Given the description of an element on the screen output the (x, y) to click on. 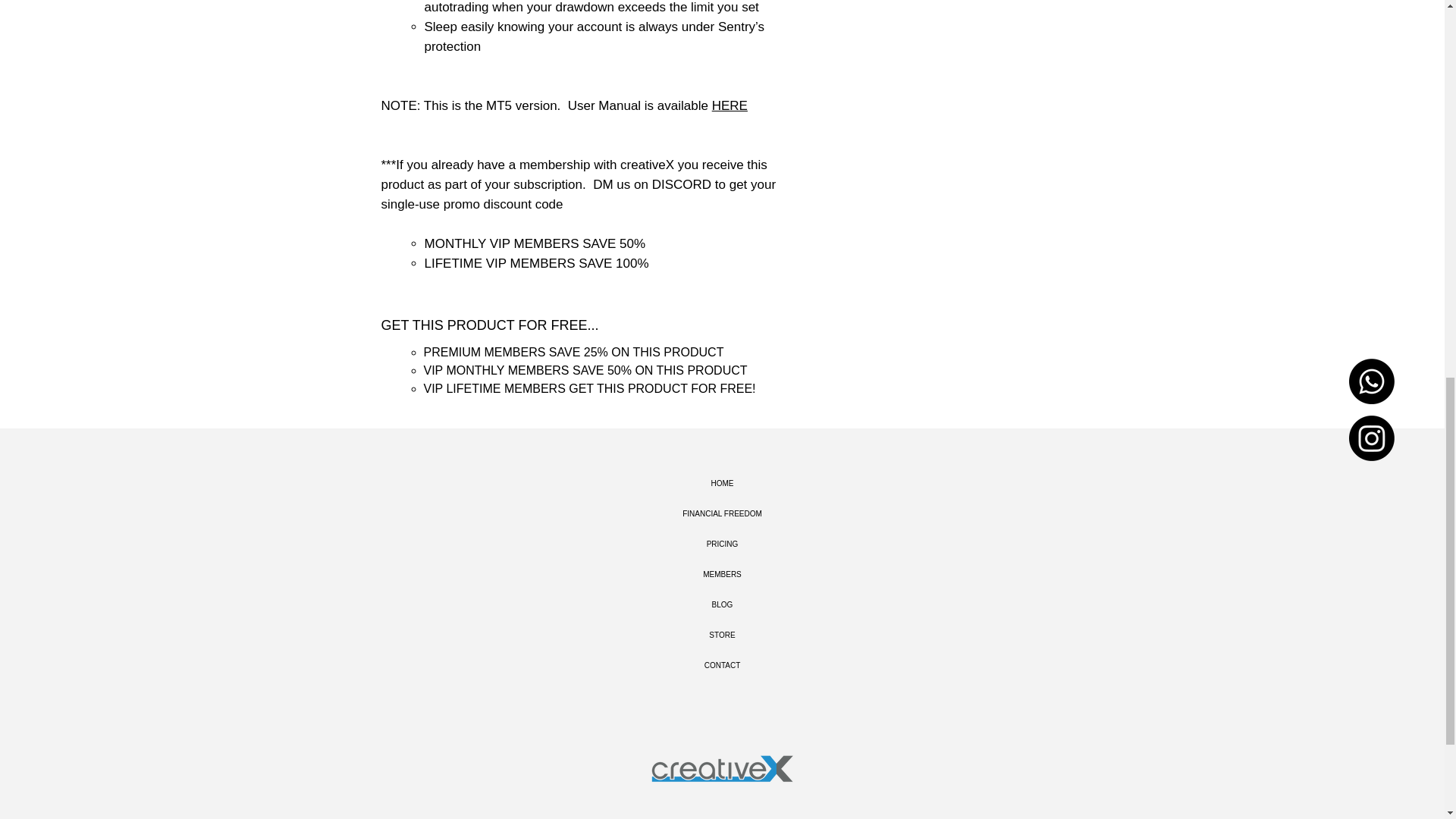
FINANCIAL FREEDOM (721, 513)
STORE (721, 634)
CONTACT (721, 665)
HOME (721, 483)
BLOG (721, 604)
MEMBERS (721, 574)
HERE (729, 105)
PRICING (721, 544)
